Given the description of an element on the screen output the (x, y) to click on. 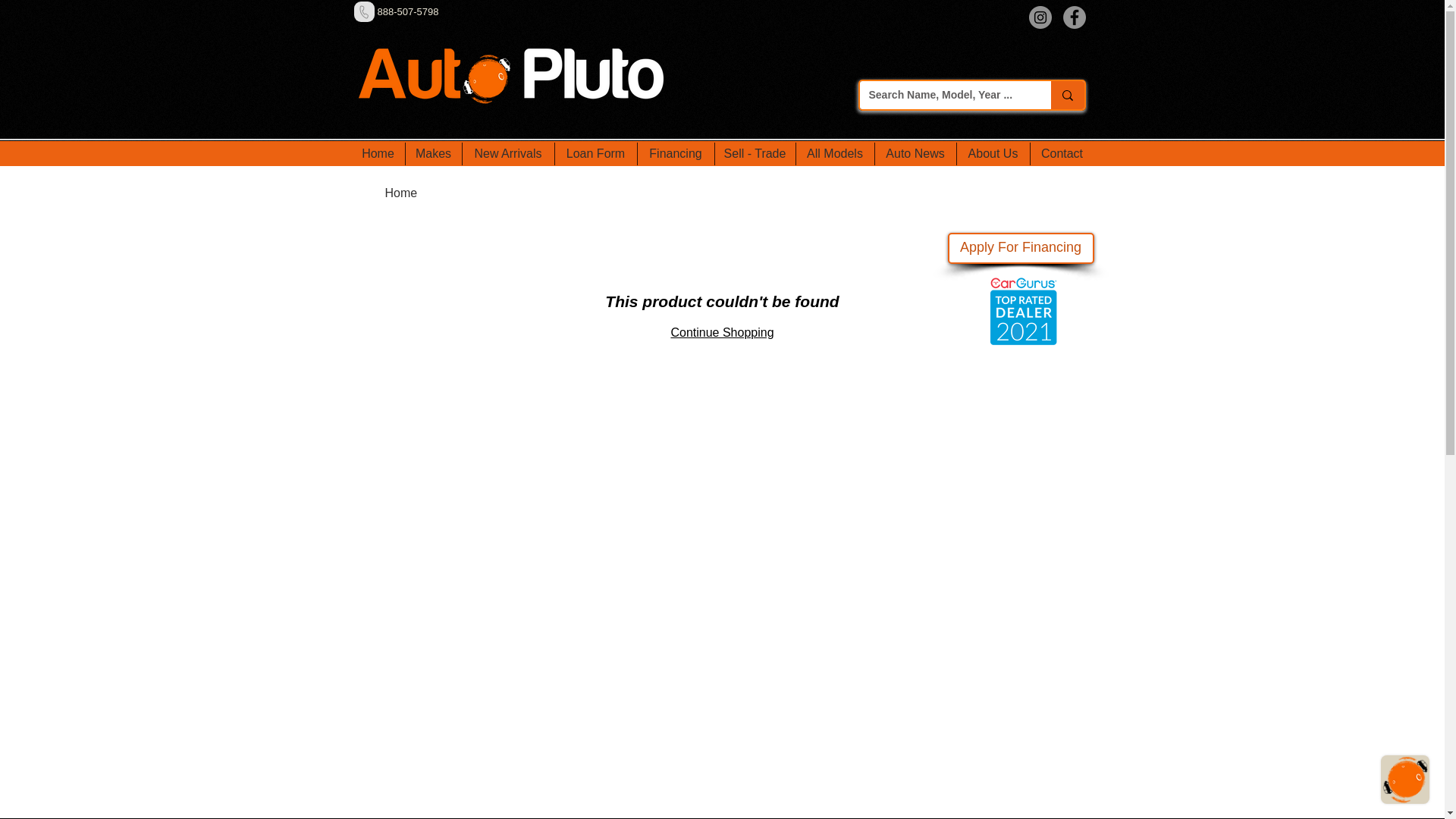
New Arrivals (507, 153)
CarGurus Top Rated Dealer Award (1022, 311)
Sell - Trade (754, 153)
Financing (675, 153)
Home (378, 153)
Loan Form (594, 153)
All Models (833, 153)
Auto News (914, 153)
Contact (1061, 153)
About Us (992, 153)
Makes (432, 153)
Home (401, 192)
